Given the description of an element on the screen output the (x, y) to click on. 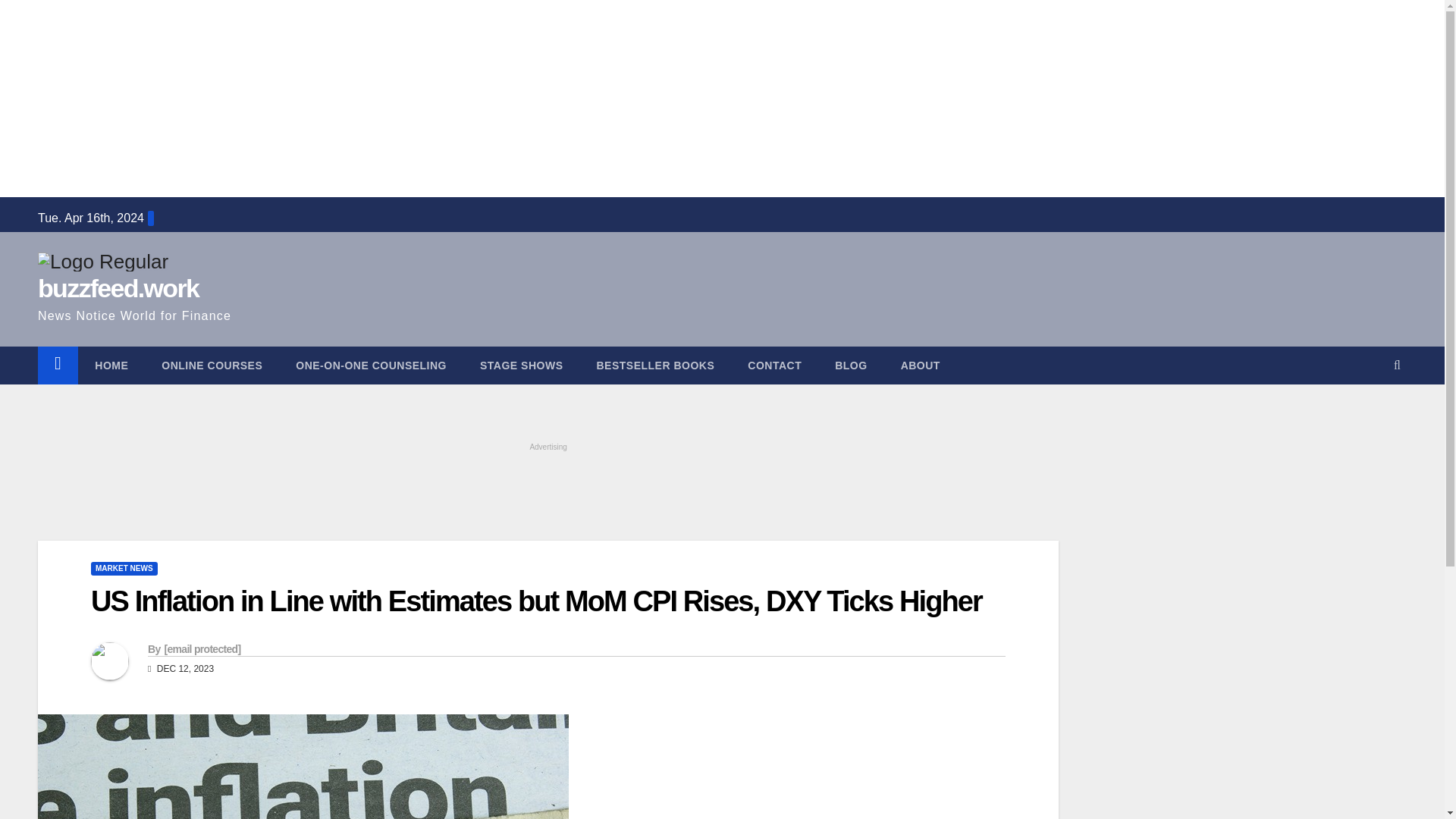
Blog (850, 365)
About (919, 365)
HOME (111, 365)
MARKET NEWS (123, 568)
ABOUT (919, 365)
buzzfeed.work (117, 287)
ONLINE COURSES (211, 365)
BLOG (850, 365)
Bestseller Books (654, 365)
Stage Shows (521, 365)
One-on-One Counseling (371, 365)
BESTSELLER BOOKS (654, 365)
Contact (774, 365)
Online Courses (211, 365)
